Given the description of an element on the screen output the (x, y) to click on. 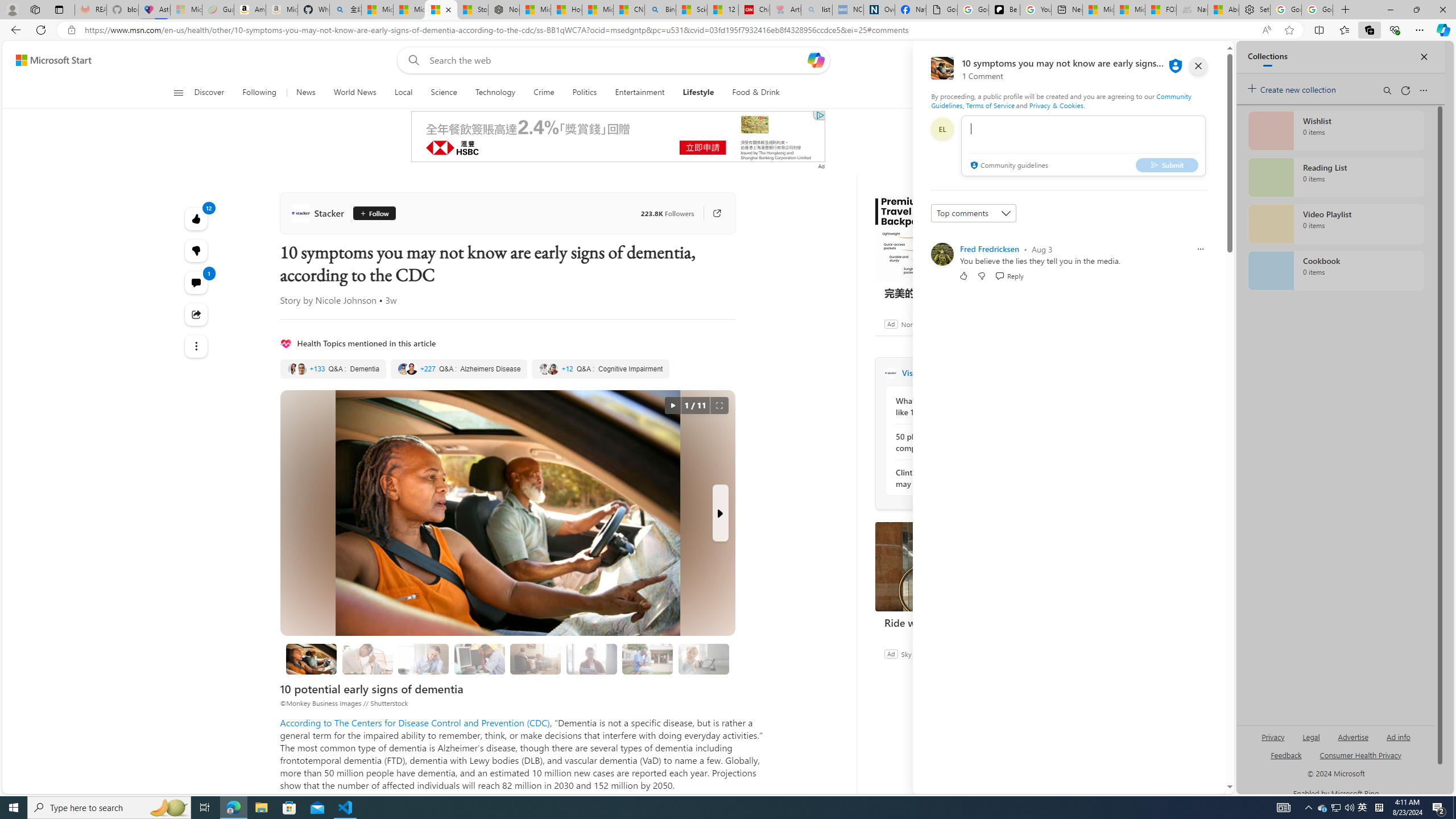
Class: progress (703, 656)
Cognitive Impairment (600, 368)
Microsoft rewards (1154, 60)
Class: qc-adchoices-link top-right  (819, 114)
CNN - MSN (628, 9)
Food & Drink (756, 92)
Class: qc-adchoices-icon (820, 115)
Go to publisher's site (711, 213)
Class: button-glyph (178, 92)
World News (354, 92)
Asthma Inhalers: Names and Types (153, 9)
